Given the description of an element on the screen output the (x, y) to click on. 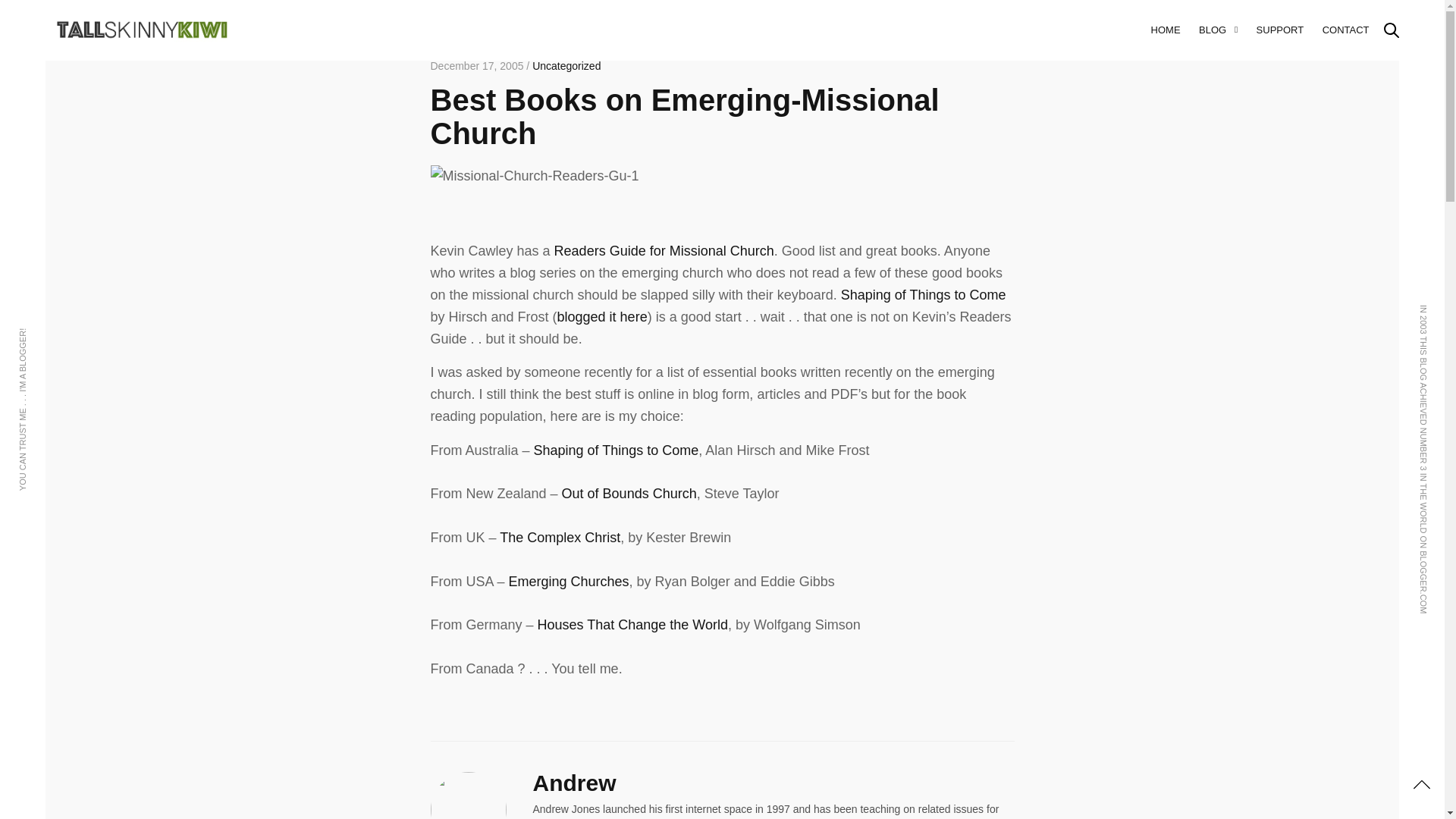
Emerging Churches (568, 581)
BLOG (1217, 29)
Houses That Change the World (632, 624)
Shaping of Things to Come (616, 450)
Shaping of Things to Come (616, 450)
SUPPORT (1280, 29)
Andrew (573, 782)
blogged it here (602, 316)
The Complex Christ (559, 537)
Out of Bounds Church (629, 493)
